Given the description of an element on the screen output the (x, y) to click on. 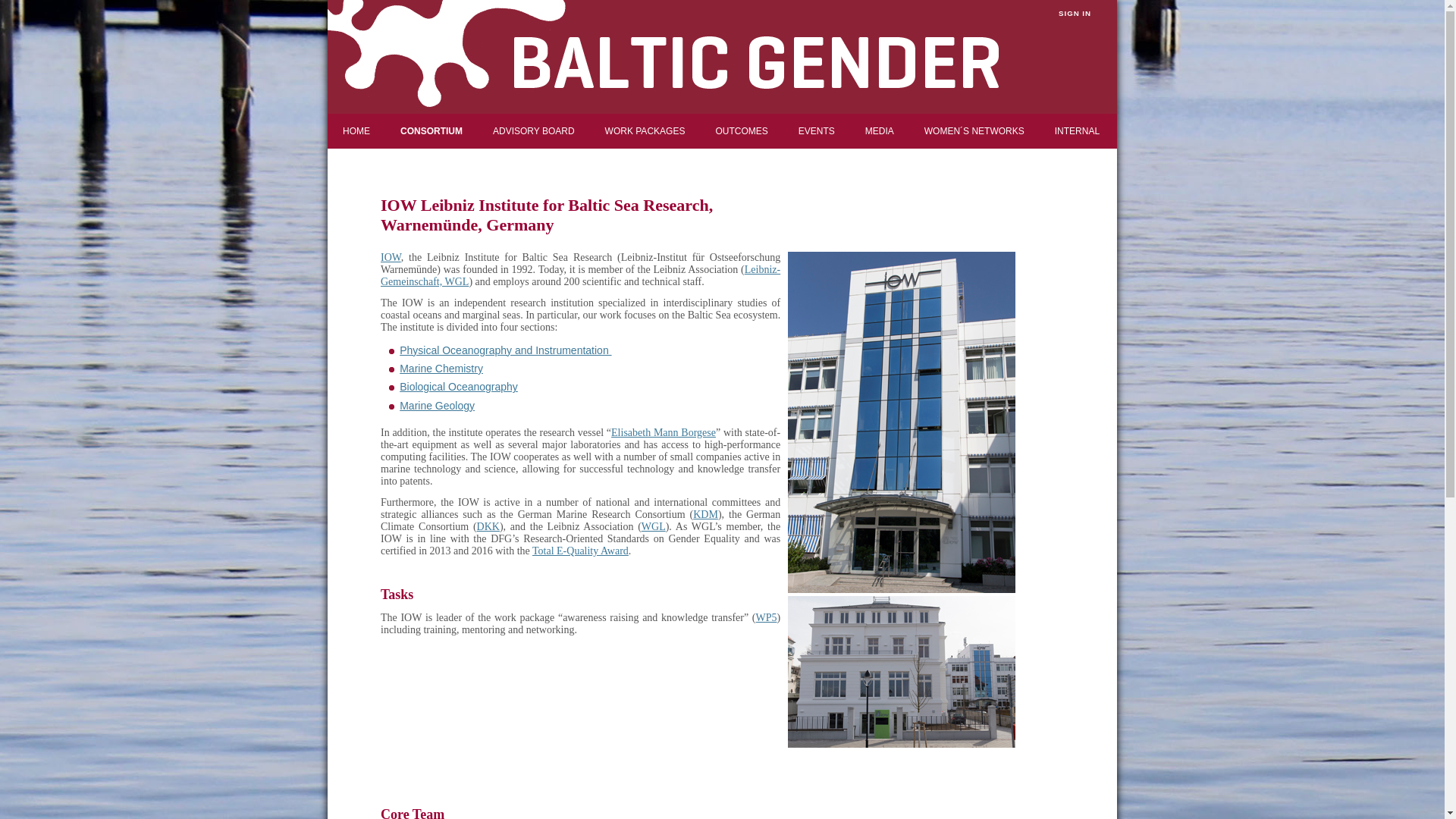
WORK PACKAGES (644, 130)
CONSORTIUM (431, 130)
Leibniz- Gemeinschaft, WGL (580, 275)
IOW (390, 256)
HOME (356, 130)
EVENTS (816, 130)
MEDIA (879, 130)
Marine Chemistry (440, 368)
INTERNAL (1077, 130)
Physical Oceanography and Instrumentation  (504, 350)
